Given the description of an element on the screen output the (x, y) to click on. 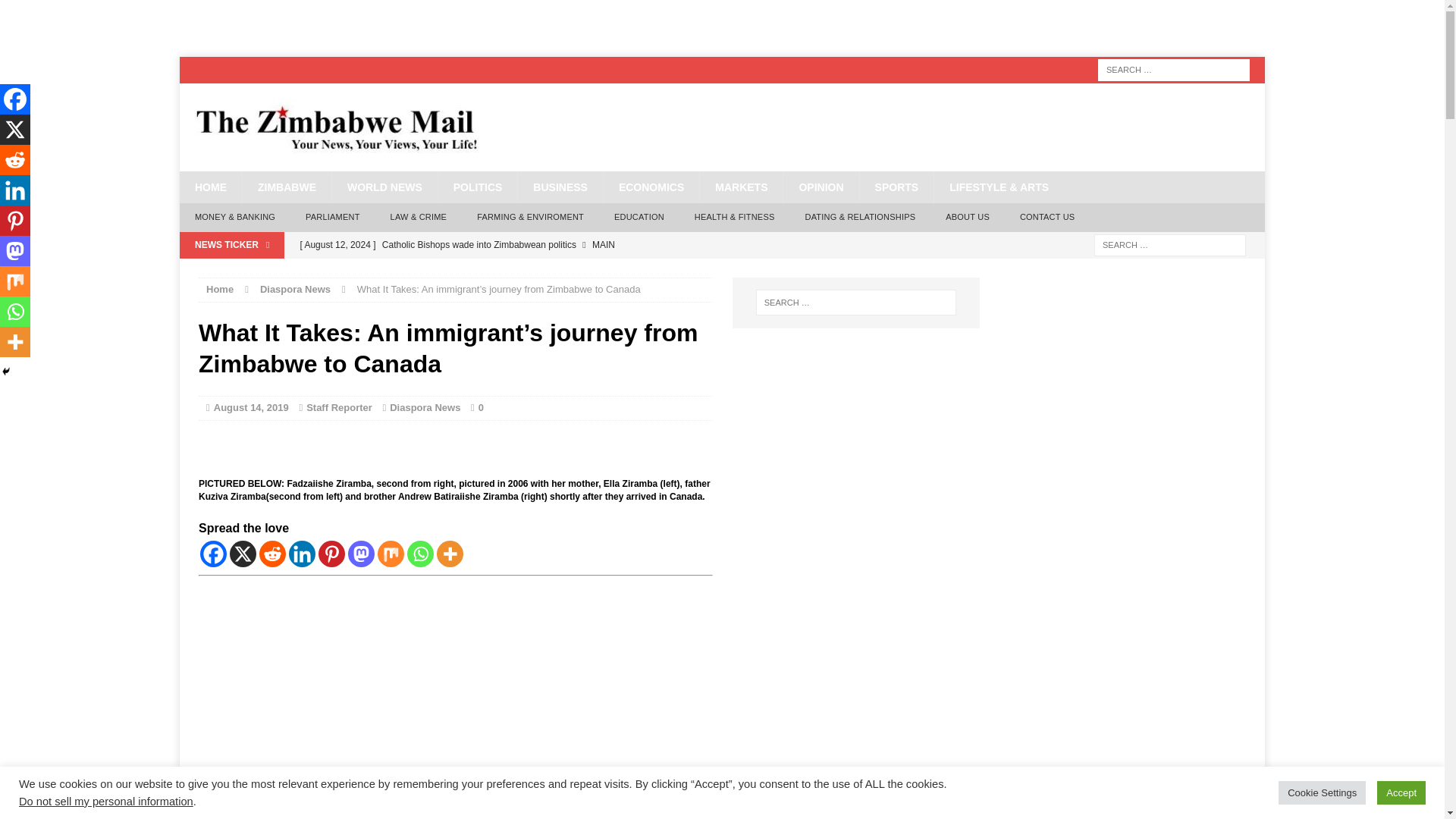
MARKETS (740, 187)
ABOUT US (967, 217)
WORLD NEWS (384, 187)
CONTACT US (1047, 217)
EDUCATION (638, 217)
Mix (390, 553)
The Zimbabwe Mail (722, 127)
Mastodon (360, 553)
HOME (210, 187)
Linkedin (301, 553)
